Given the description of an element on the screen output the (x, y) to click on. 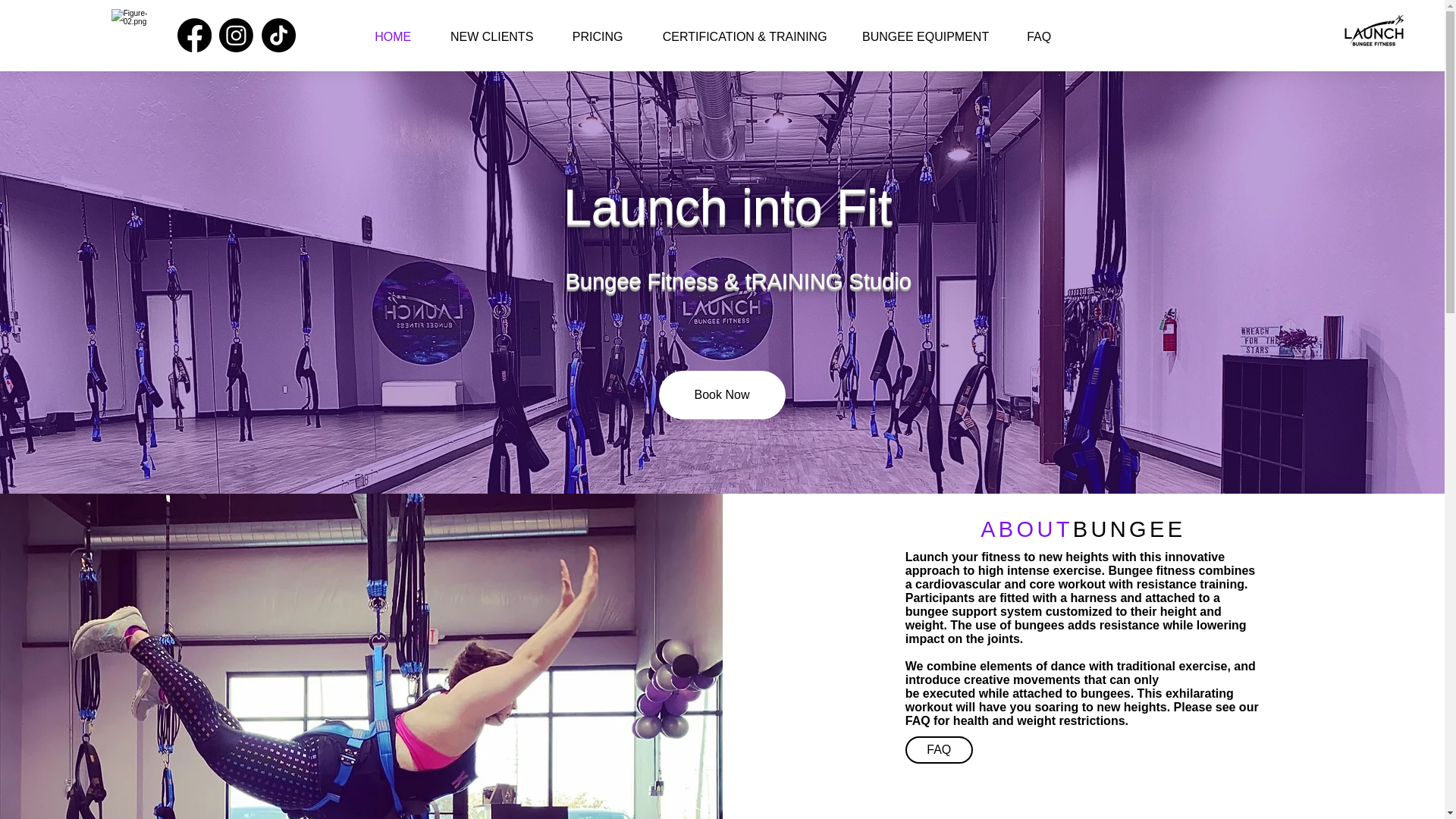
NEW CLIENTS (491, 37)
HOME (392, 37)
BUNGEE EQUIPMENT (925, 37)
1.png (1373, 37)
FAQ (938, 749)
Book Now (721, 395)
PRICING (597, 37)
FAQ (1039, 37)
